Given the description of an element on the screen output the (x, y) to click on. 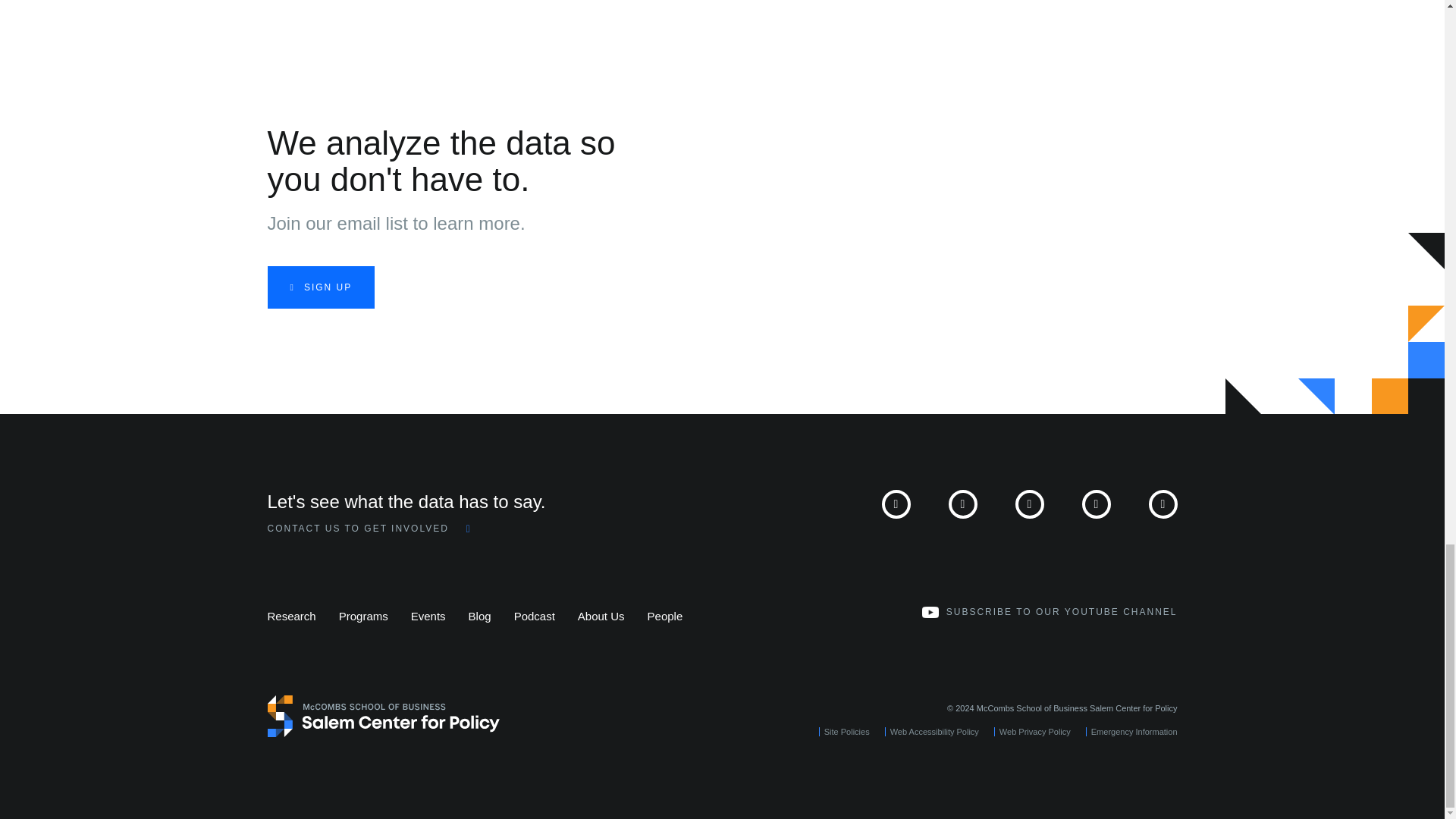
CONTACT US TO GET INVOLVED (368, 528)
SIGN UP (320, 287)
Events (427, 615)
Research (290, 615)
Programs (363, 615)
